Given the description of an element on the screen output the (x, y) to click on. 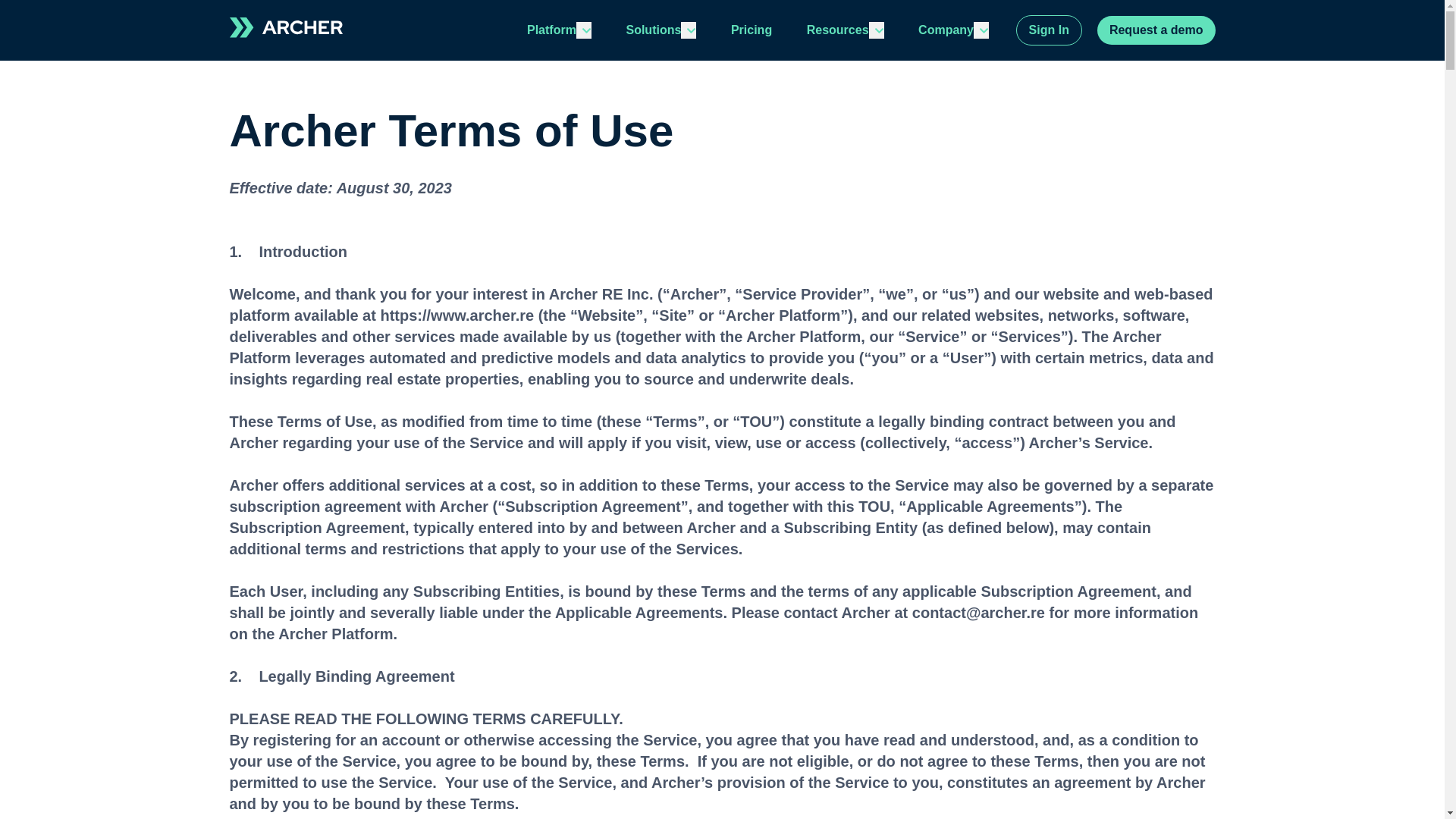
Solutions (653, 30)
Pricing (750, 30)
Show submenu for Company (981, 30)
Show submenu for Platform (583, 30)
Platform (551, 30)
Sign In (1048, 30)
Show submenu for Resources (876, 30)
Resources (837, 30)
Company (946, 30)
Show submenu for Solutions (688, 30)
